Given the description of an element on the screen output the (x, y) to click on. 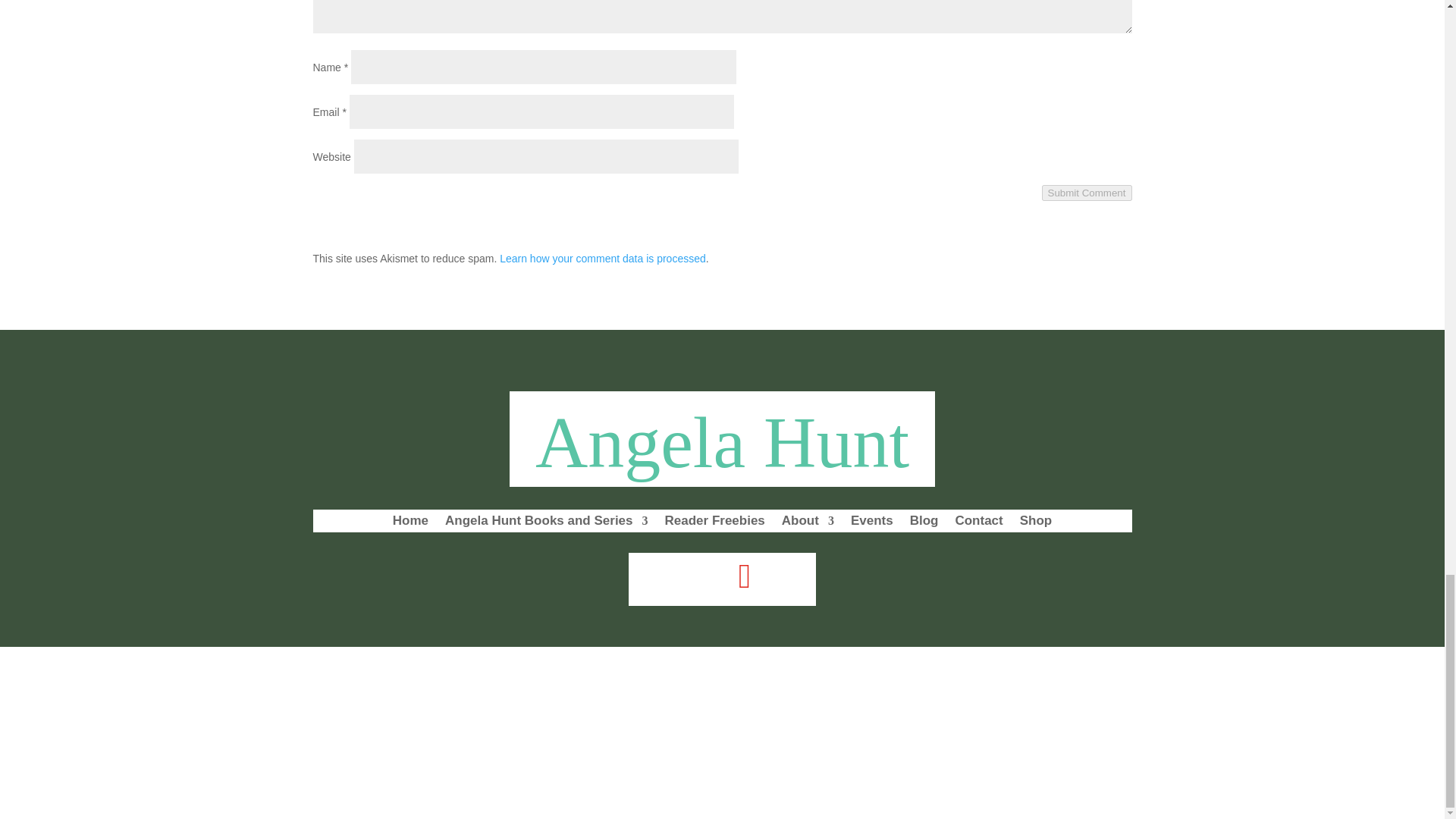
Home (410, 523)
facebook 48x48 (699, 577)
goodreads 48x48 (789, 577)
Angela Hunt Books and Series (546, 523)
Learn how your comment data is processed (602, 258)
BB 48x48 (654, 577)
Submit Comment (1087, 192)
